Given the description of an element on the screen output the (x, y) to click on. 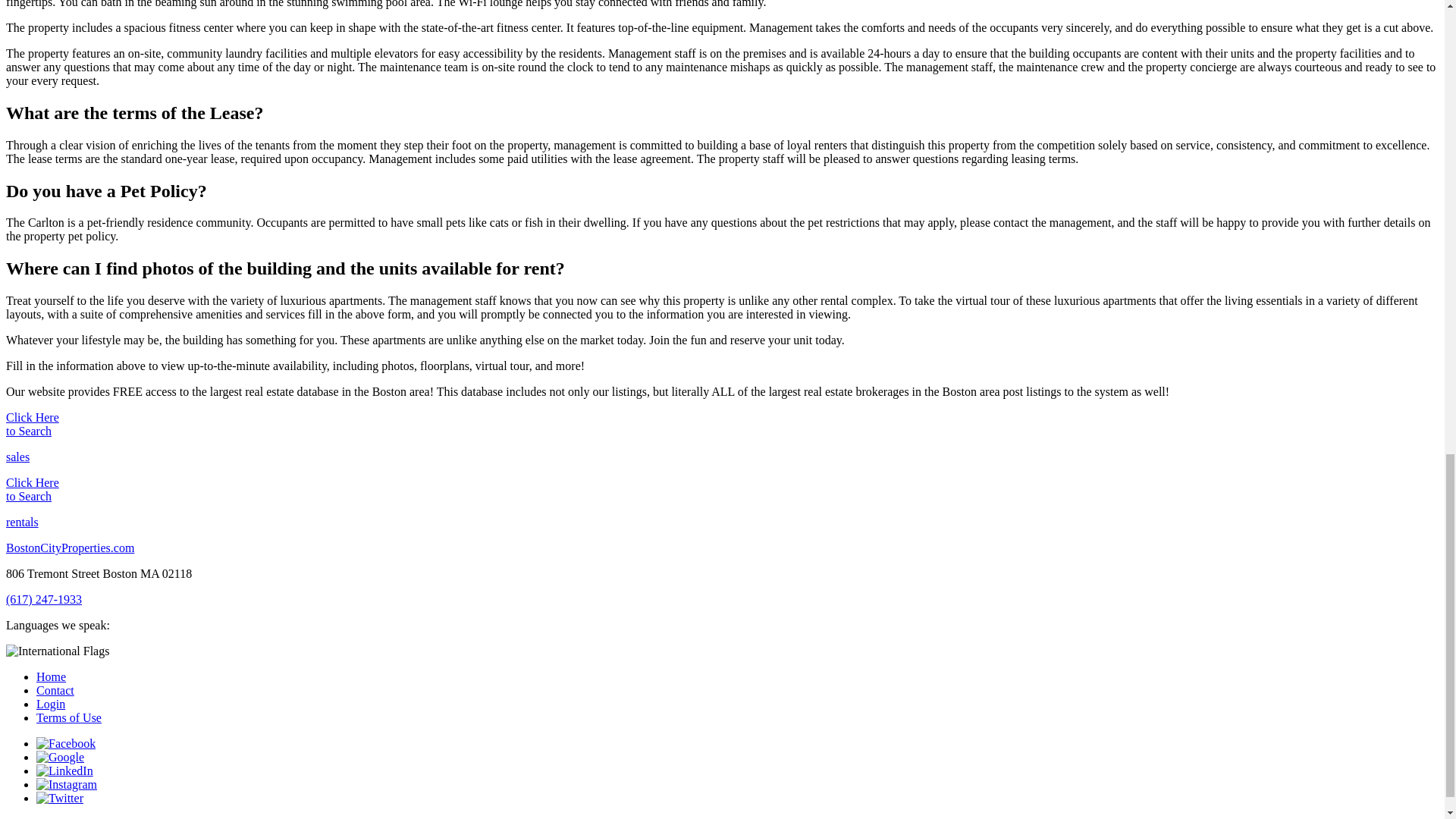
Terms of Use (68, 717)
Contact (55, 689)
Home (50, 676)
Login (50, 703)
BostonCityProperties.com (69, 547)
